Given the description of an element on the screen output the (x, y) to click on. 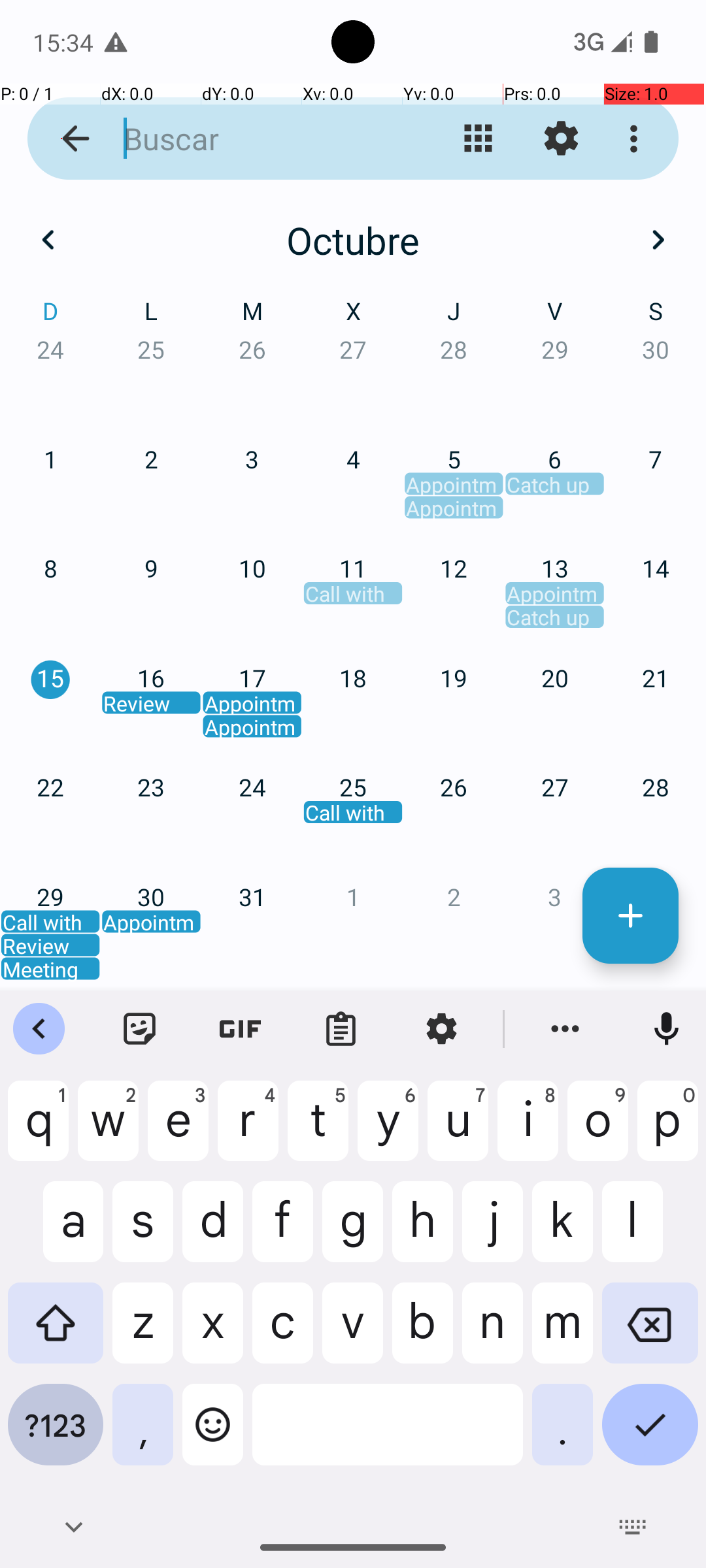
Buscar Element type: android.widget.EditText (252, 138)
Cambiar vista Element type: android.widget.Button (477, 138)
Ajustes Element type: android.widget.Button (560, 138)
Más opciones Element type: android.widget.ImageView (636, 138)
Nuevo evento Element type: android.widget.ImageButton (630, 915)
Octubre Element type: android.widget.TextView (352, 239)
